Given the description of an element on the screen output the (x, y) to click on. 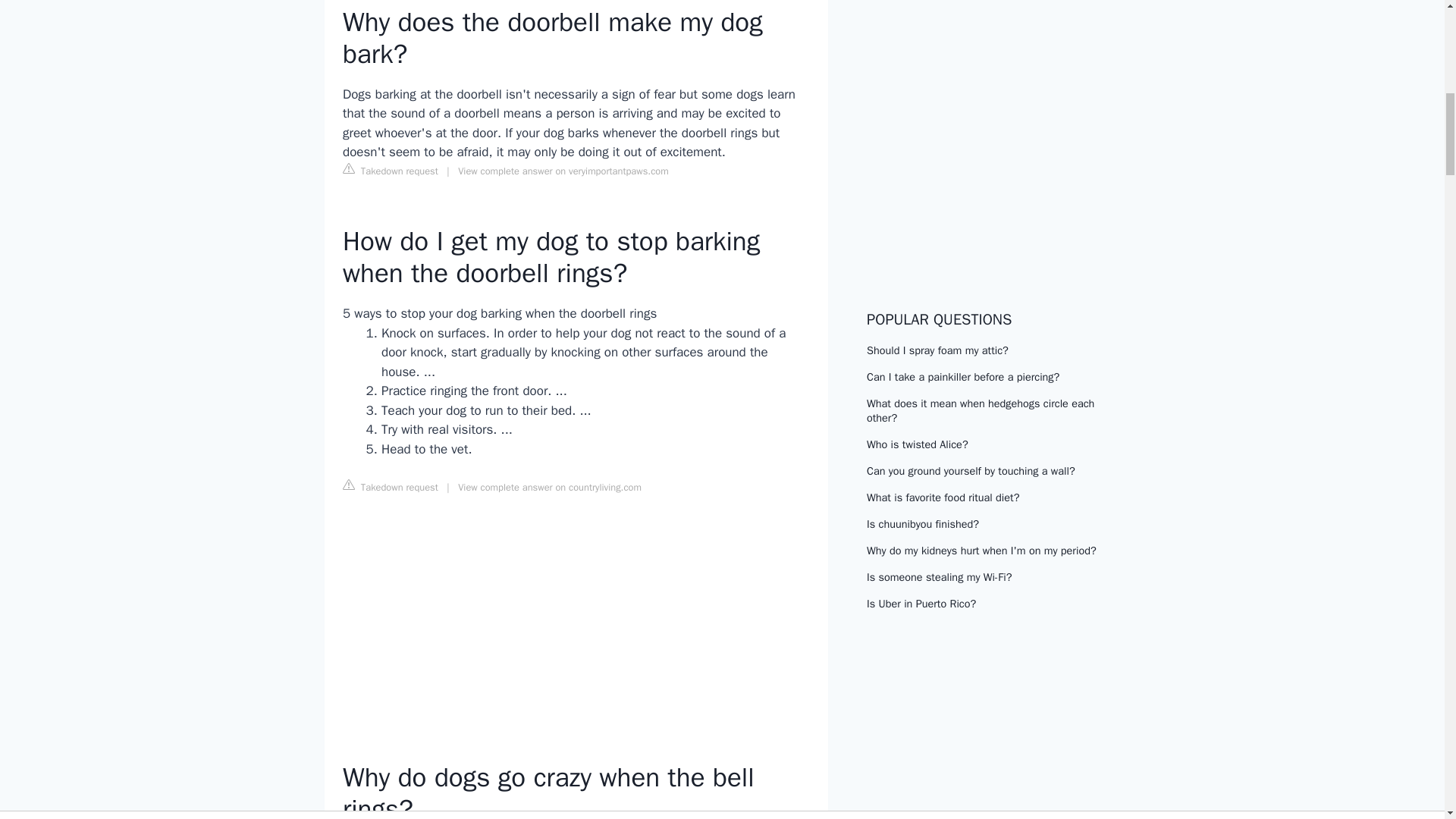
View complete answer on countryliving.com (550, 487)
View complete answer on veryimportantpaws.com (563, 171)
Takedown request (390, 170)
Takedown request (390, 486)
